Given the description of an element on the screen output the (x, y) to click on. 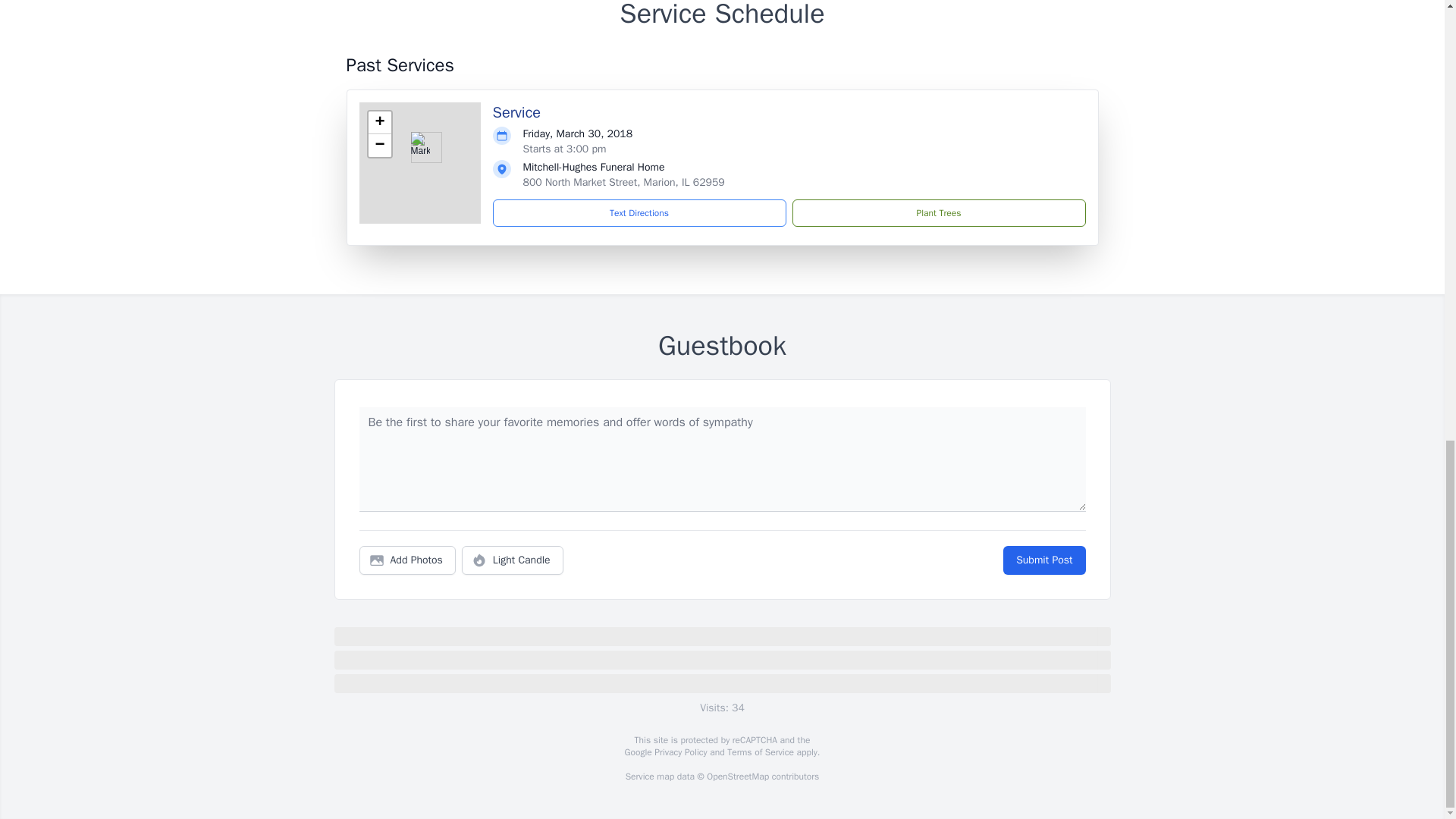
Text Directions (639, 212)
Zoom out (379, 145)
Terms of Service (759, 752)
Zoom in (379, 122)
Light Candle (512, 560)
Privacy Policy (679, 752)
Plant Trees (938, 212)
800 North Market Street, Marion, IL 62959 (623, 182)
OpenStreetMap (737, 776)
Add Photos (407, 560)
Submit Post (1043, 560)
